Given the description of an element on the screen output the (x, y) to click on. 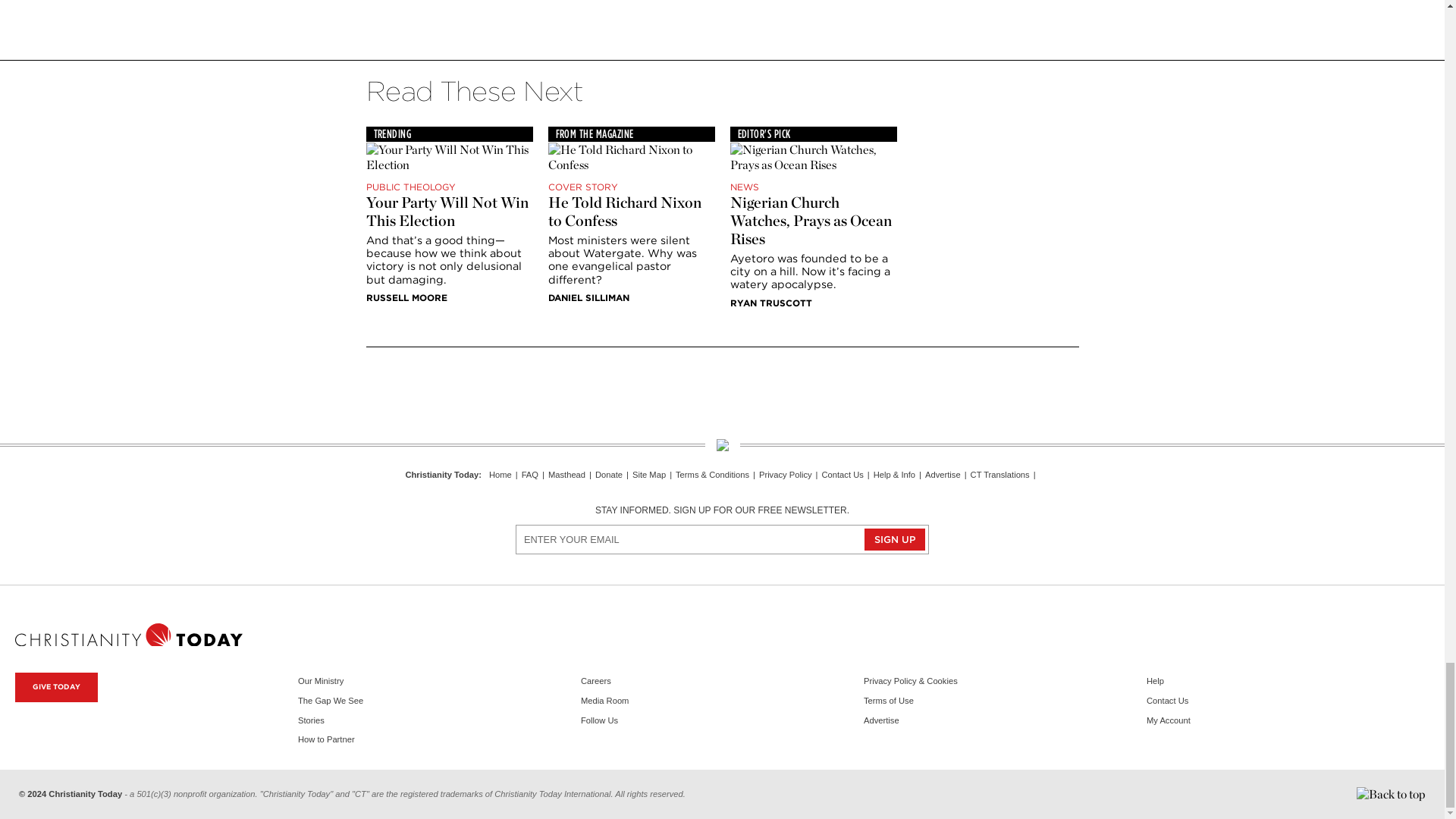
Sign Up (894, 539)
